Given the description of an element on the screen output the (x, y) to click on. 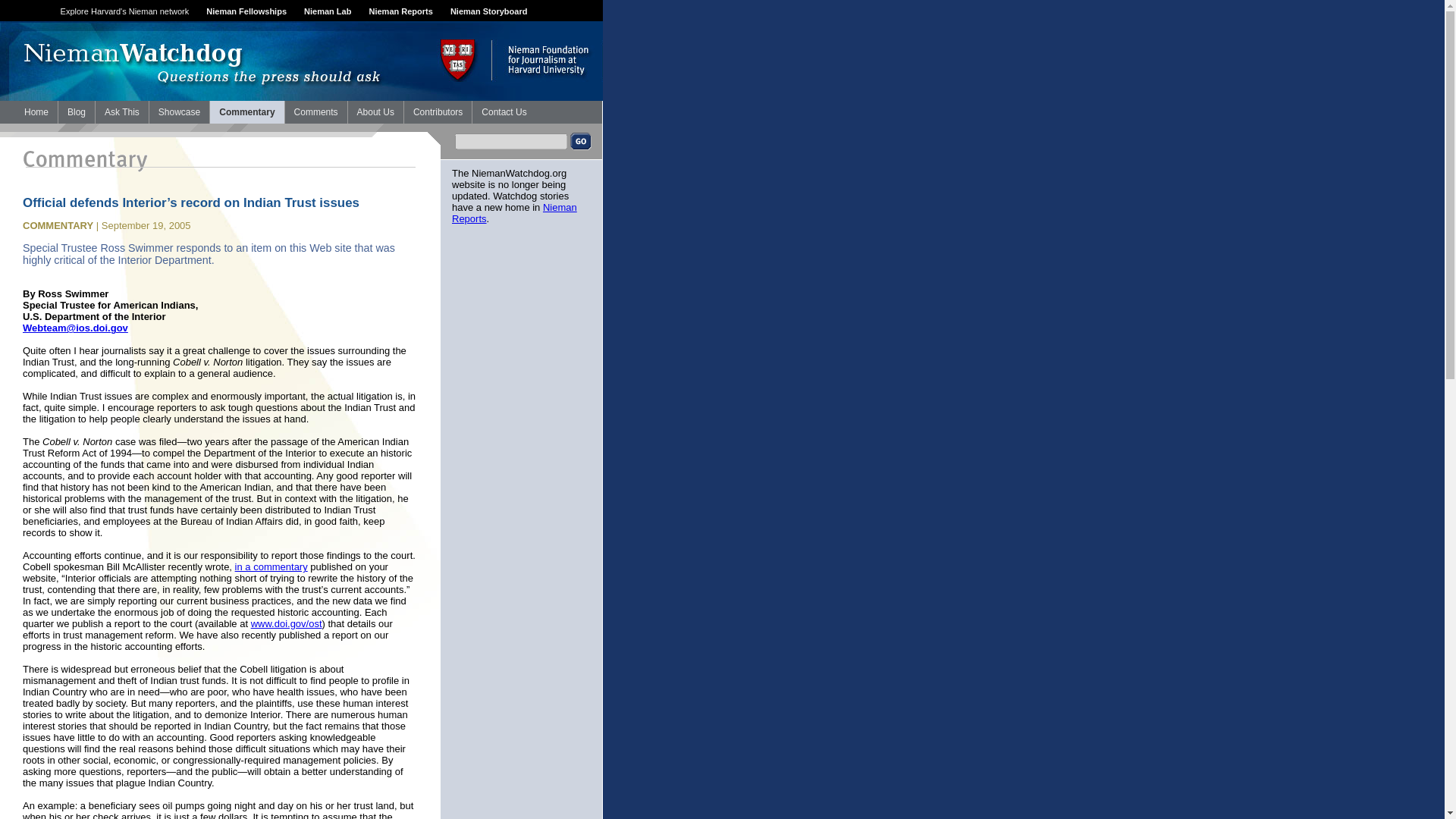
Nieman Reports (400, 10)
Nieman Reports (513, 212)
Explore Harvard's Nieman network (125, 10)
Commentary (246, 112)
Nieman Storyboard (488, 10)
Blog (76, 112)
Contributors (437, 112)
Nieman Lab (327, 10)
Contact Us (503, 112)
About Us (375, 112)
